Given the description of an element on the screen output the (x, y) to click on. 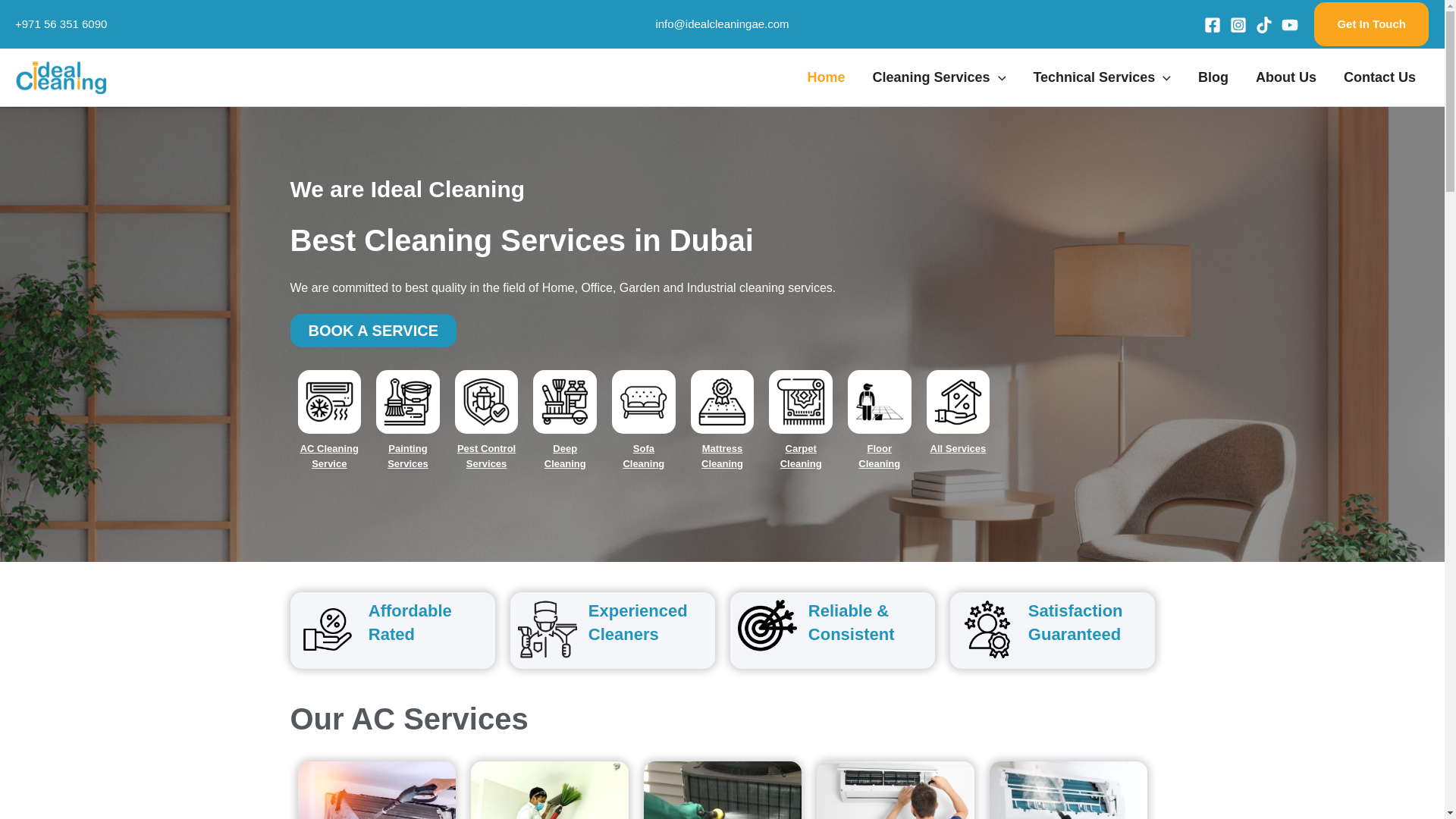
Get In Touch (1371, 23)
Cleaning Services (939, 76)
Home (826, 76)
